Given the description of an element on the screen output the (x, y) to click on. 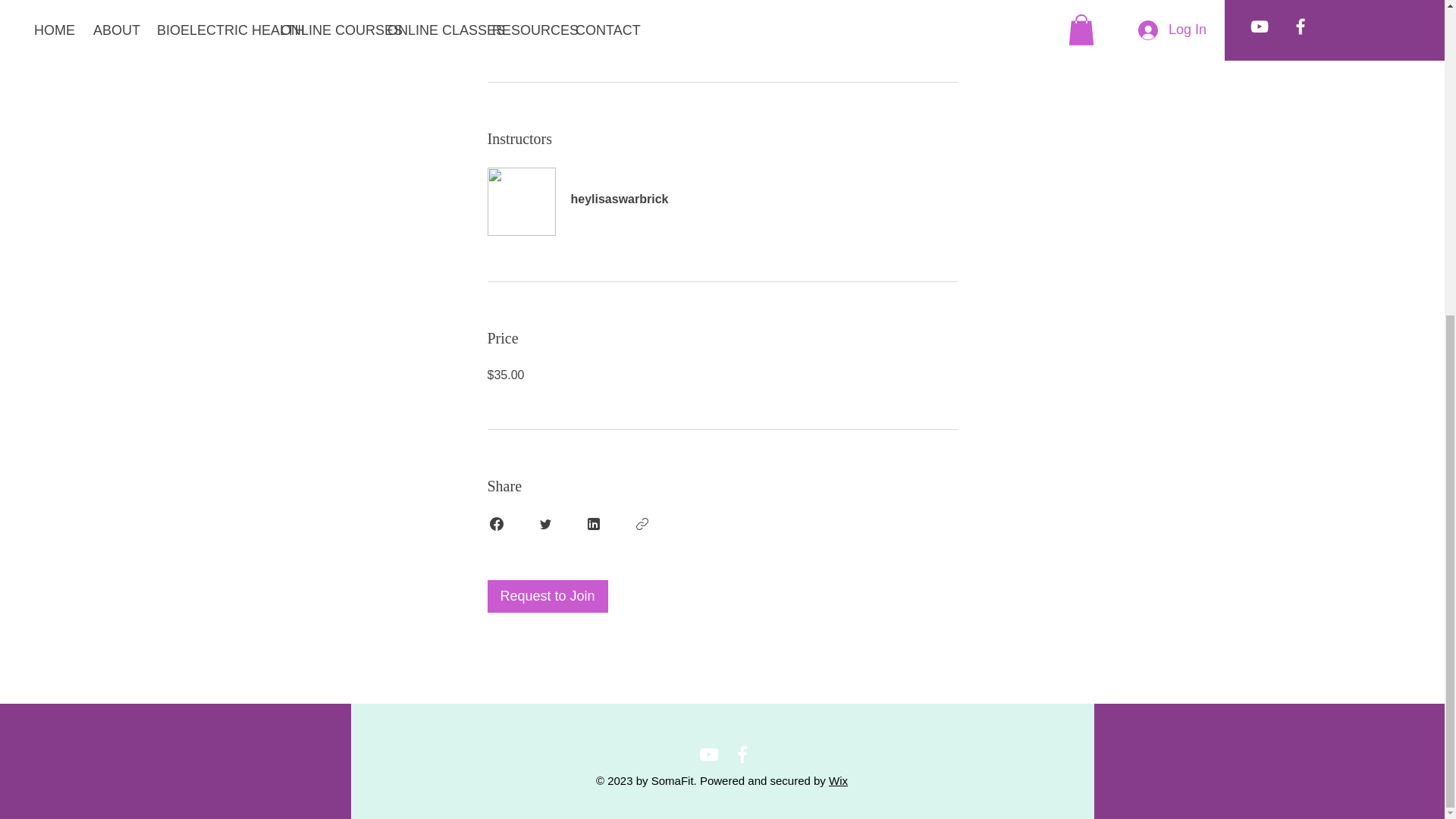
Request to Join (546, 595)
Wix (837, 780)
Go to the app (794, 4)
heylisaswarbrick (721, 190)
